Given the description of an element on the screen output the (x, y) to click on. 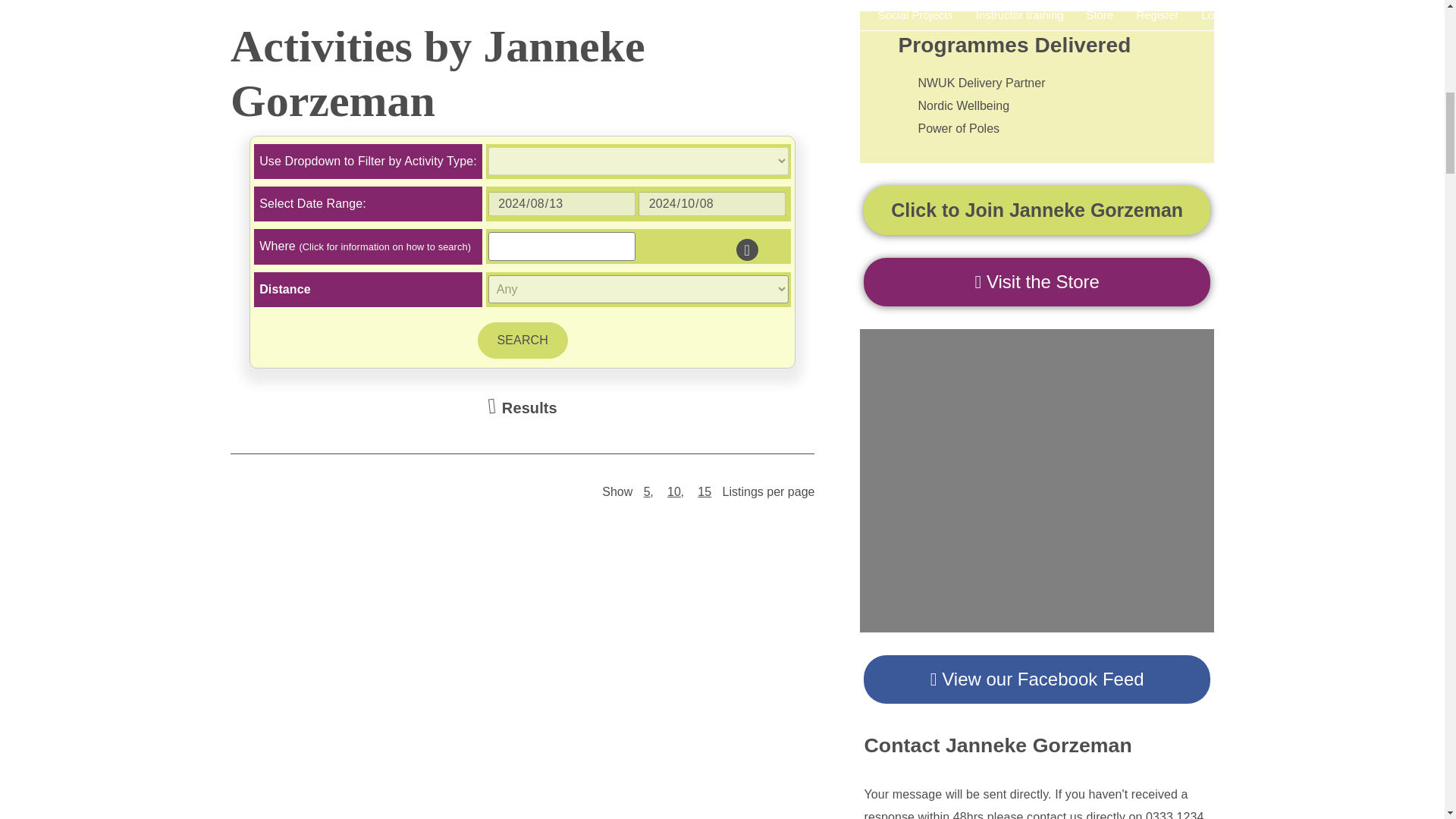
2024-10-08 (712, 203)
Click to Join Janneke Gorzeman (1036, 210)
2024-08-13 (560, 203)
Visit the Store (1036, 281)
Find my current location (747, 250)
View our Facebook Feed (1036, 679)
